Given the description of an element on the screen output the (x, y) to click on. 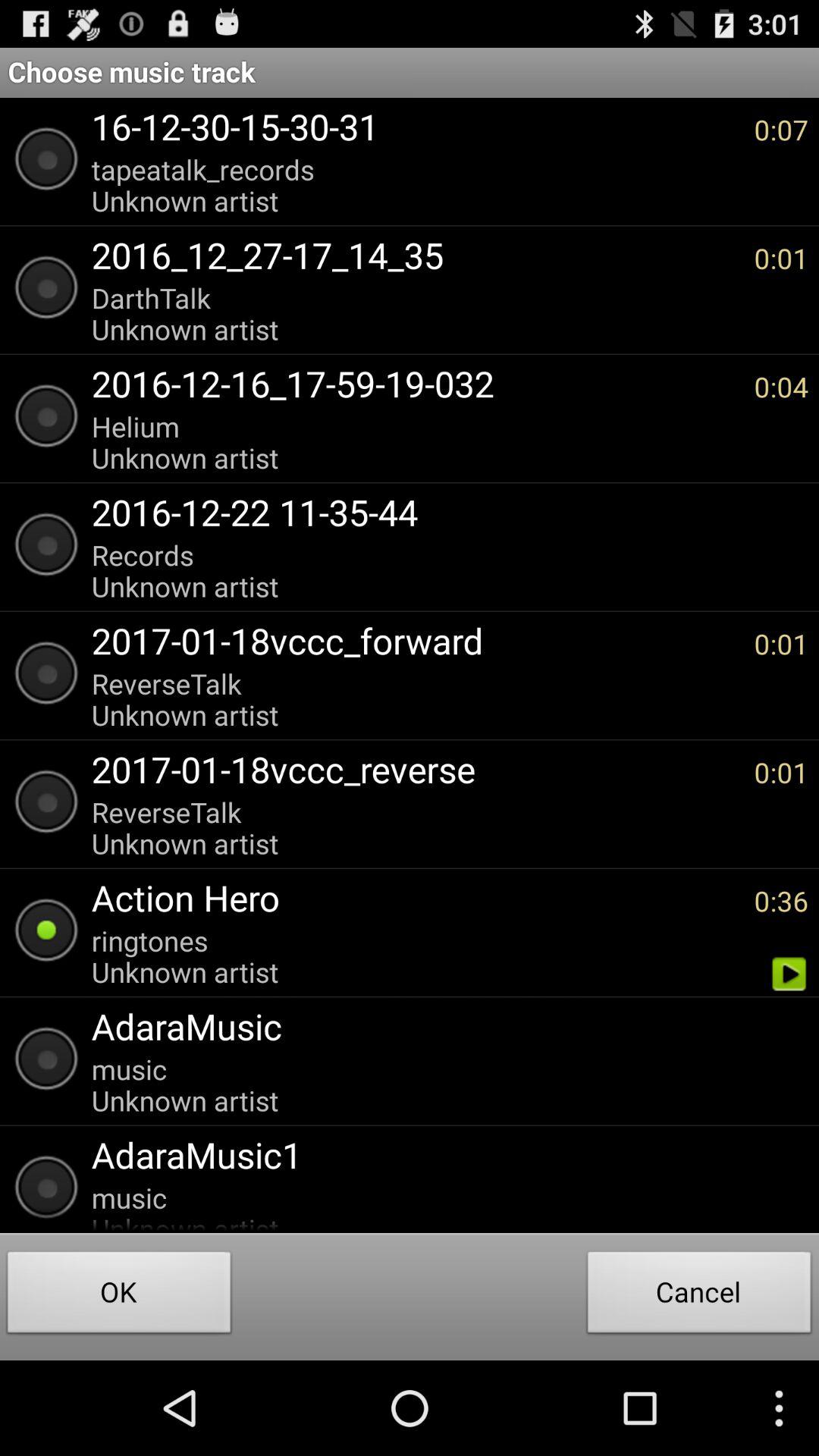
open adaramusic1 item (441, 1154)
